Given the description of an element on the screen output the (x, y) to click on. 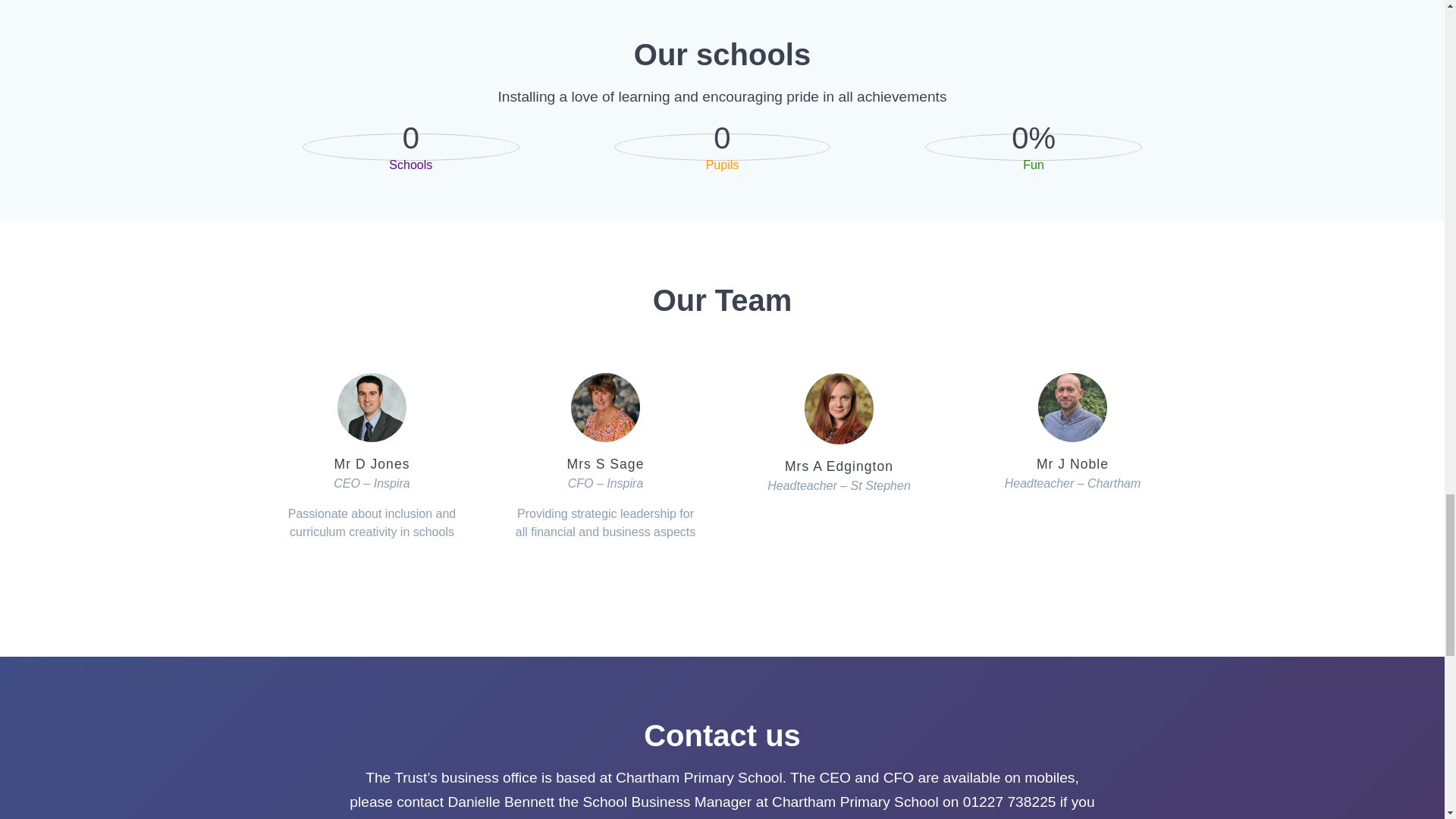
cropped-Academy-Head.jpeg (372, 408)
cropped-Alice-Edgington.jpg (840, 408)
cropped-Jamie-Noble-1-scaled-1.jpg (1073, 407)
cropped-CFO.jpeg (605, 408)
